Given the description of an element on the screen output the (x, y) to click on. 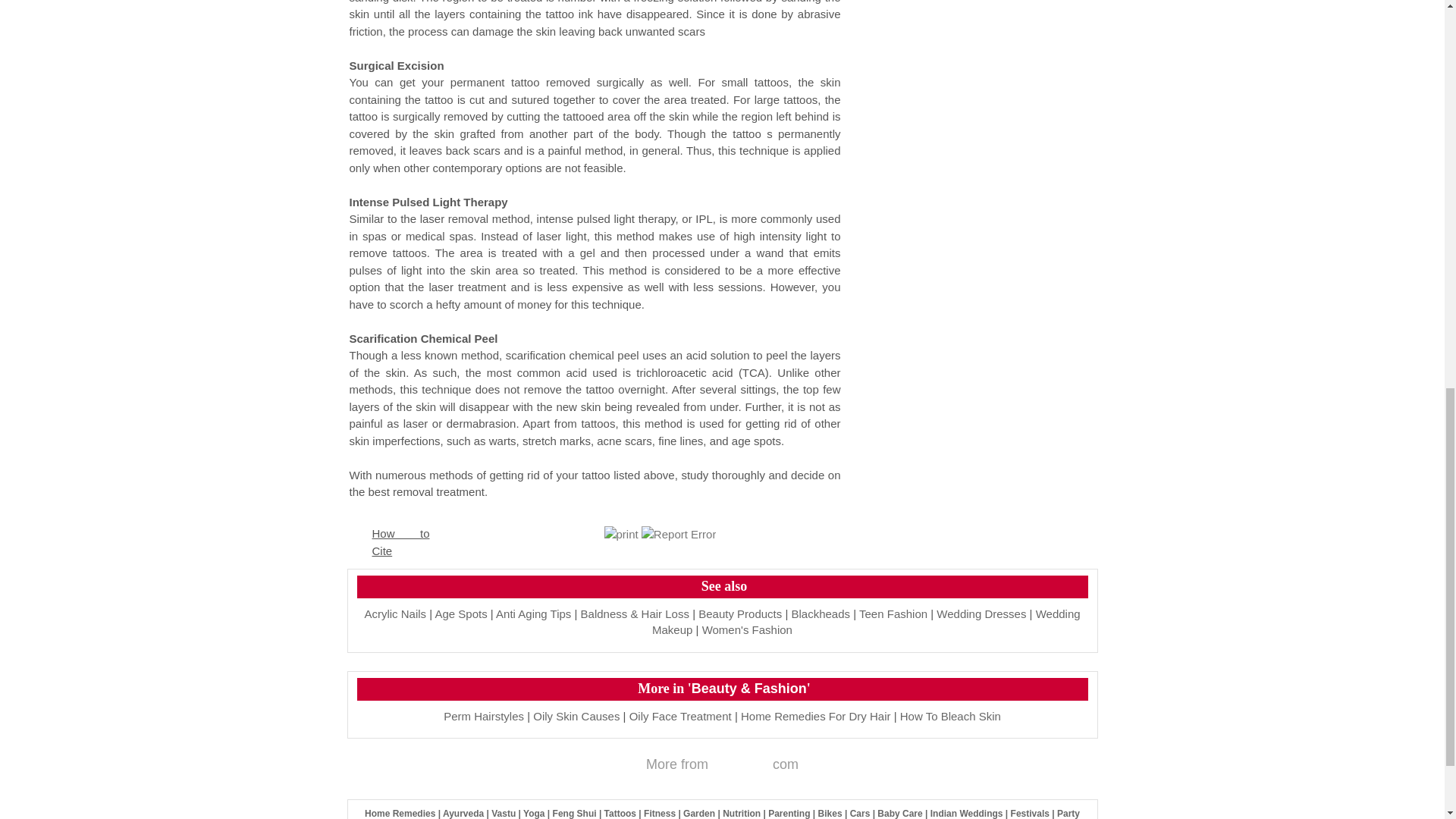
Anti Aging Tips (533, 613)
Blackheads (821, 613)
Beauty Products (739, 613)
Wedding Dresses (981, 613)
Age Spots (459, 613)
Teen Fashion (893, 613)
Acrylic Nails (395, 613)
